Given the description of an element on the screen output the (x, y) to click on. 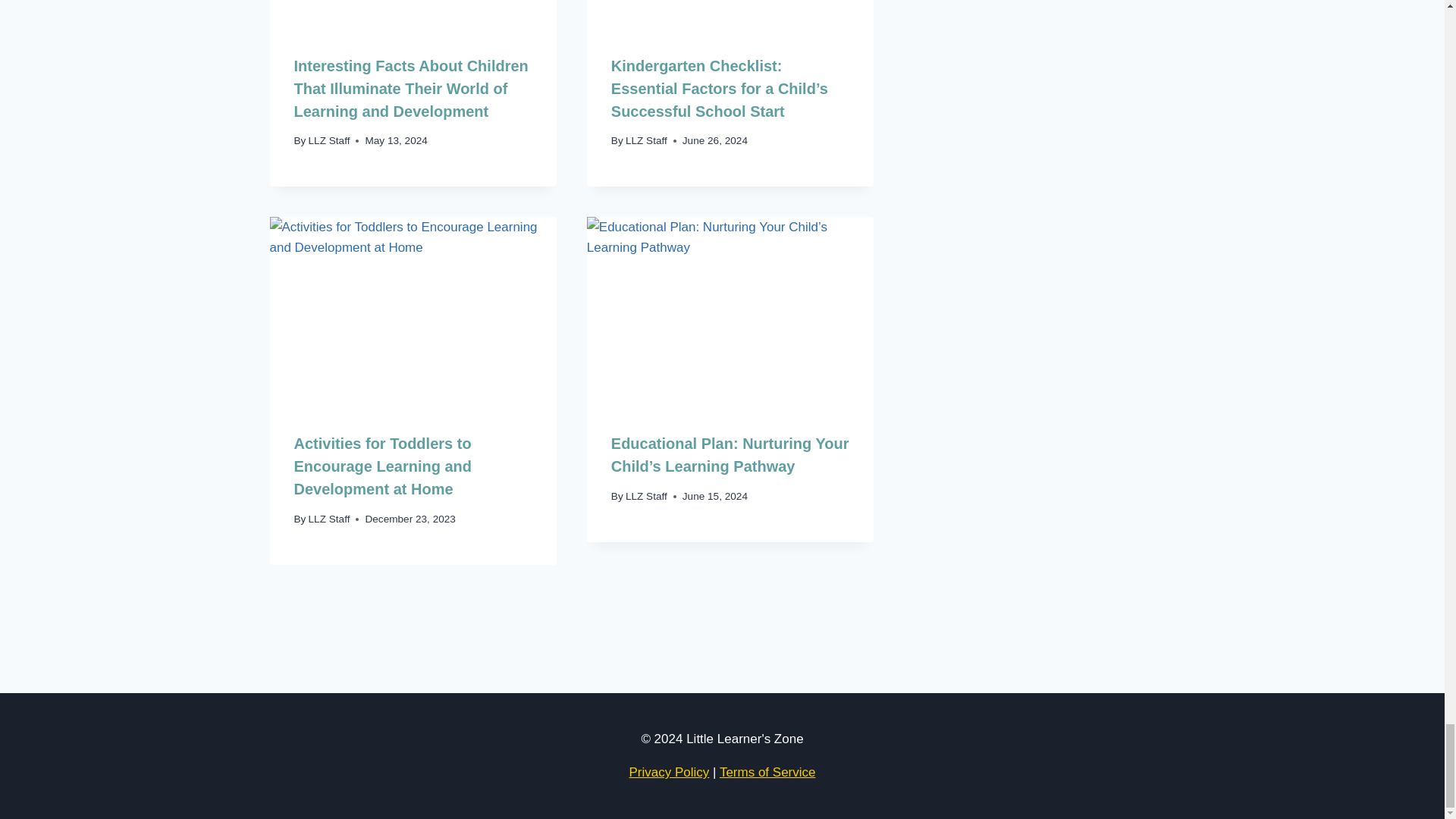
LLZ Staff (329, 140)
